Given the description of an element on the screen output the (x, y) to click on. 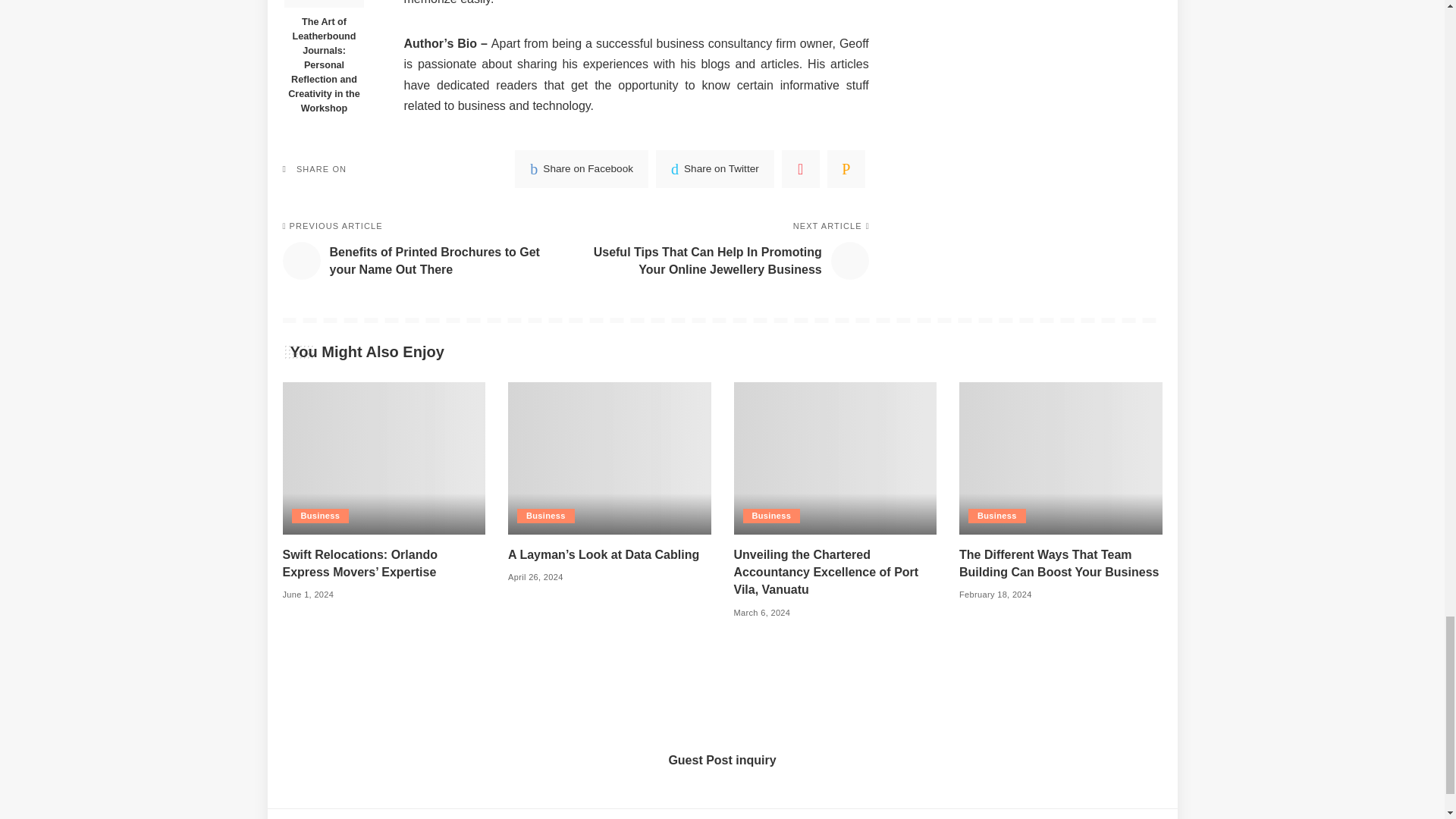
Facebook (581, 168)
Pinterest (800, 168)
Share on Twitter (715, 168)
Twitter (715, 168)
Share on Facebook (581, 168)
